Given the description of an element on the screen output the (x, y) to click on. 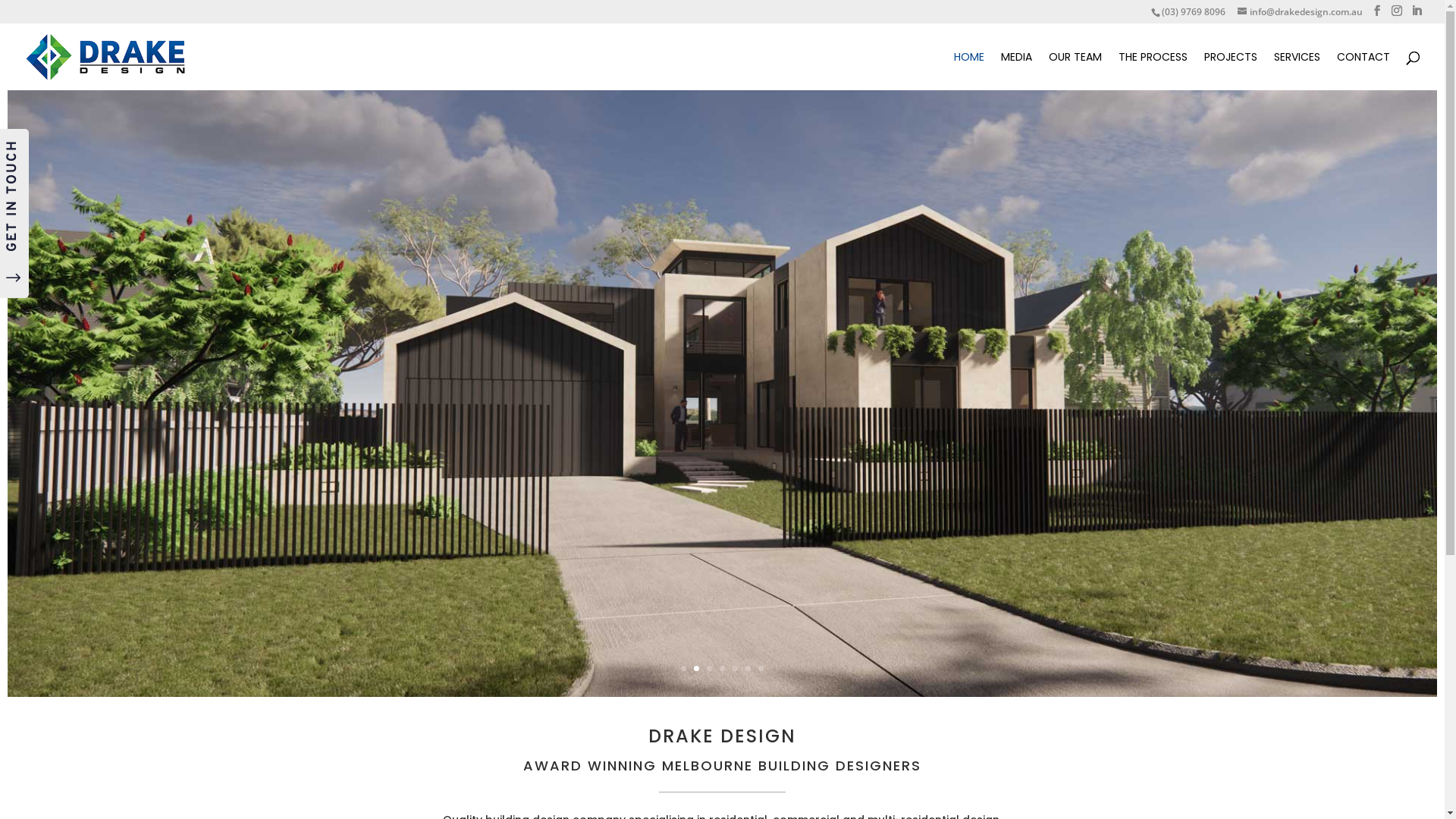
1 Element type: text (683, 668)
THE PROCESS Element type: text (1152, 70)
HOME Element type: text (968, 70)
2 Element type: text (696, 668)
7 Element type: text (760, 668)
MEDIA Element type: text (1016, 70)
CONTACT Element type: text (1363, 70)
6 Element type: text (747, 668)
info@drakedesign.com.au Element type: text (1299, 11)
5 Element type: text (734, 668)
SERVICES Element type: text (1297, 70)
PROJECTS Element type: text (1230, 70)
(03) 9769 8096 Element type: text (1193, 11)
3 Element type: text (709, 668)
4 Element type: text (721, 668)
OUR TEAM Element type: text (1074, 70)
